Given the description of an element on the screen output the (x, y) to click on. 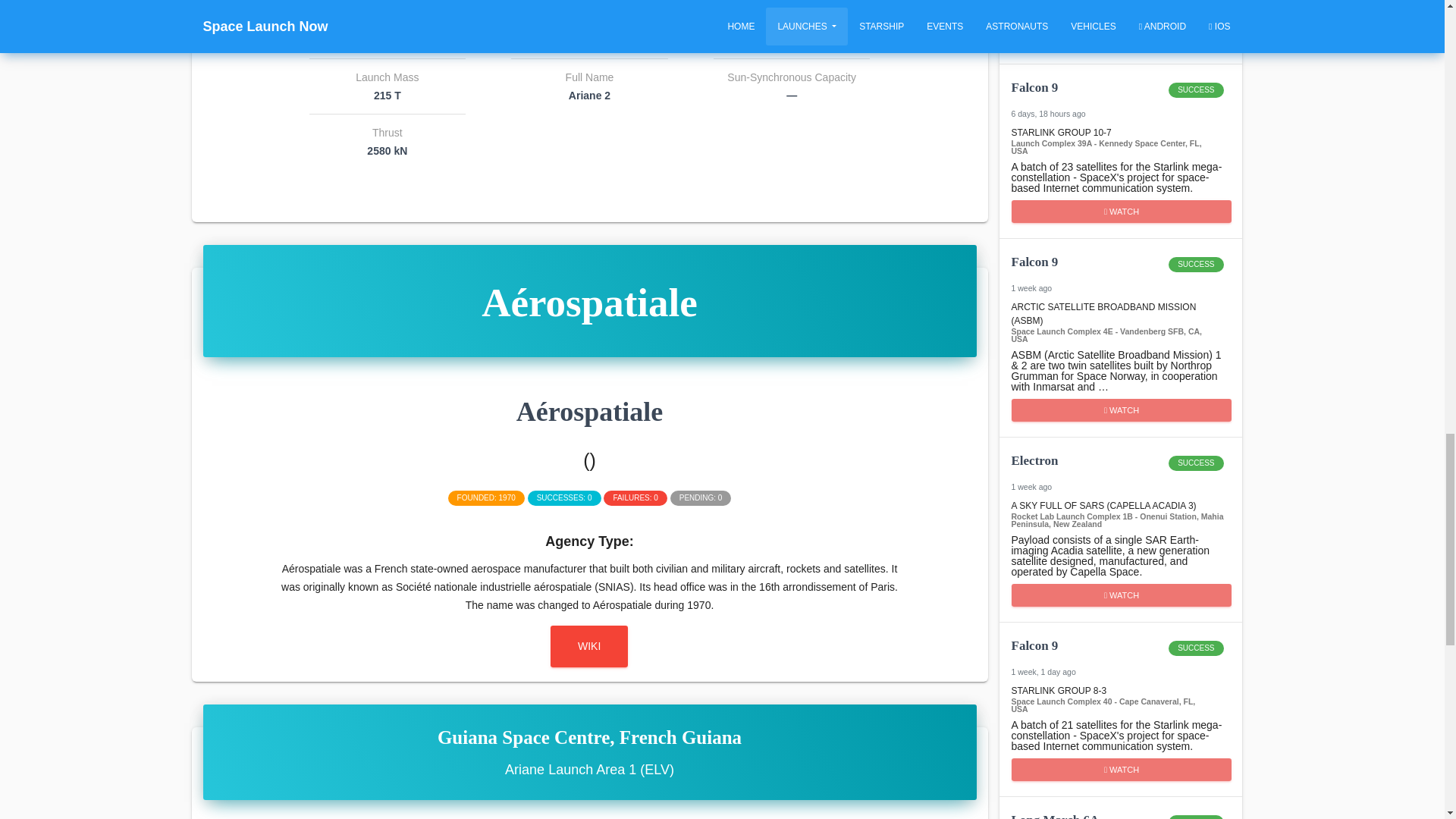
WATCH (1121, 594)
WATCH (1119, 271)
WIKI (1121, 769)
WATCH (1119, 96)
WATCH (1119, 814)
